Given the description of an element on the screen output the (x, y) to click on. 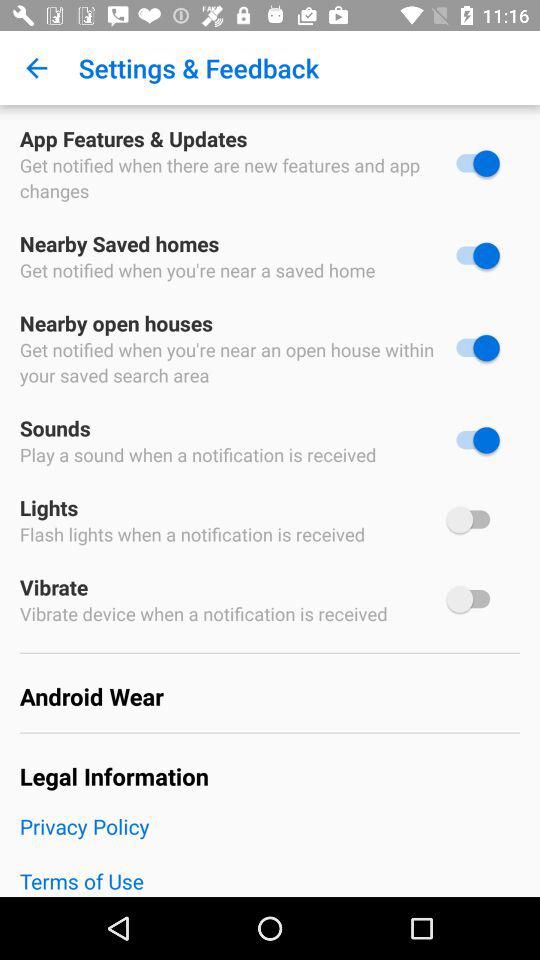
tap the item next to settings & feedback item (36, 68)
